Given the description of an element on the screen output the (x, y) to click on. 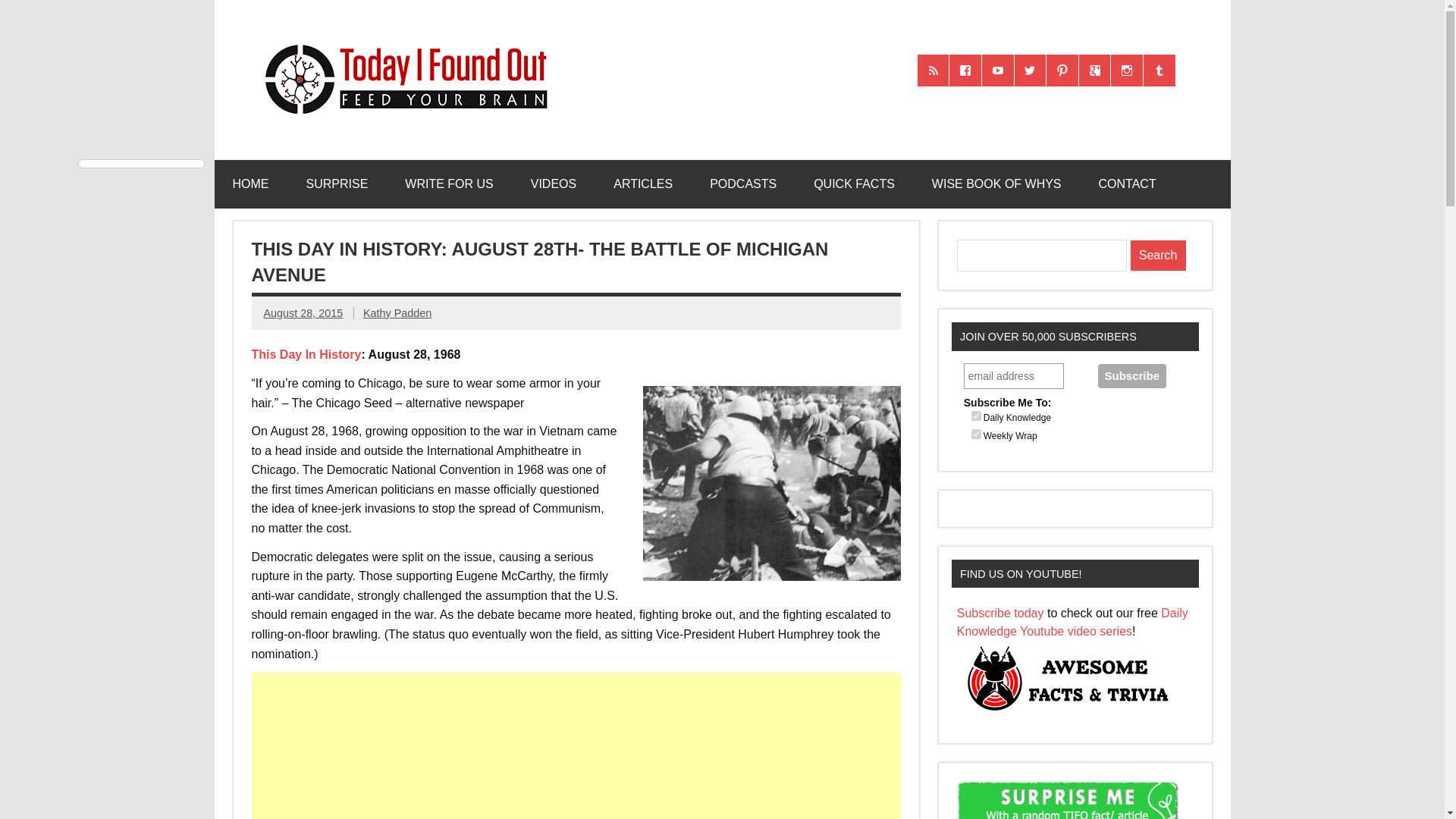
HOME (250, 183)
This Day in History (306, 354)
2 (976, 433)
VIDEOS (553, 183)
QUICK FACTS (853, 183)
12:00 am (303, 313)
Subscribe (1131, 375)
ARTICLES (642, 183)
Today I Found Out (399, 42)
WRITE FOR US (449, 183)
SURPRISE (337, 183)
CONTACT (1127, 183)
WISE BOOK OF WHYS (997, 183)
Search (1158, 255)
Advertisement (577, 746)
